Given the description of an element on the screen output the (x, y) to click on. 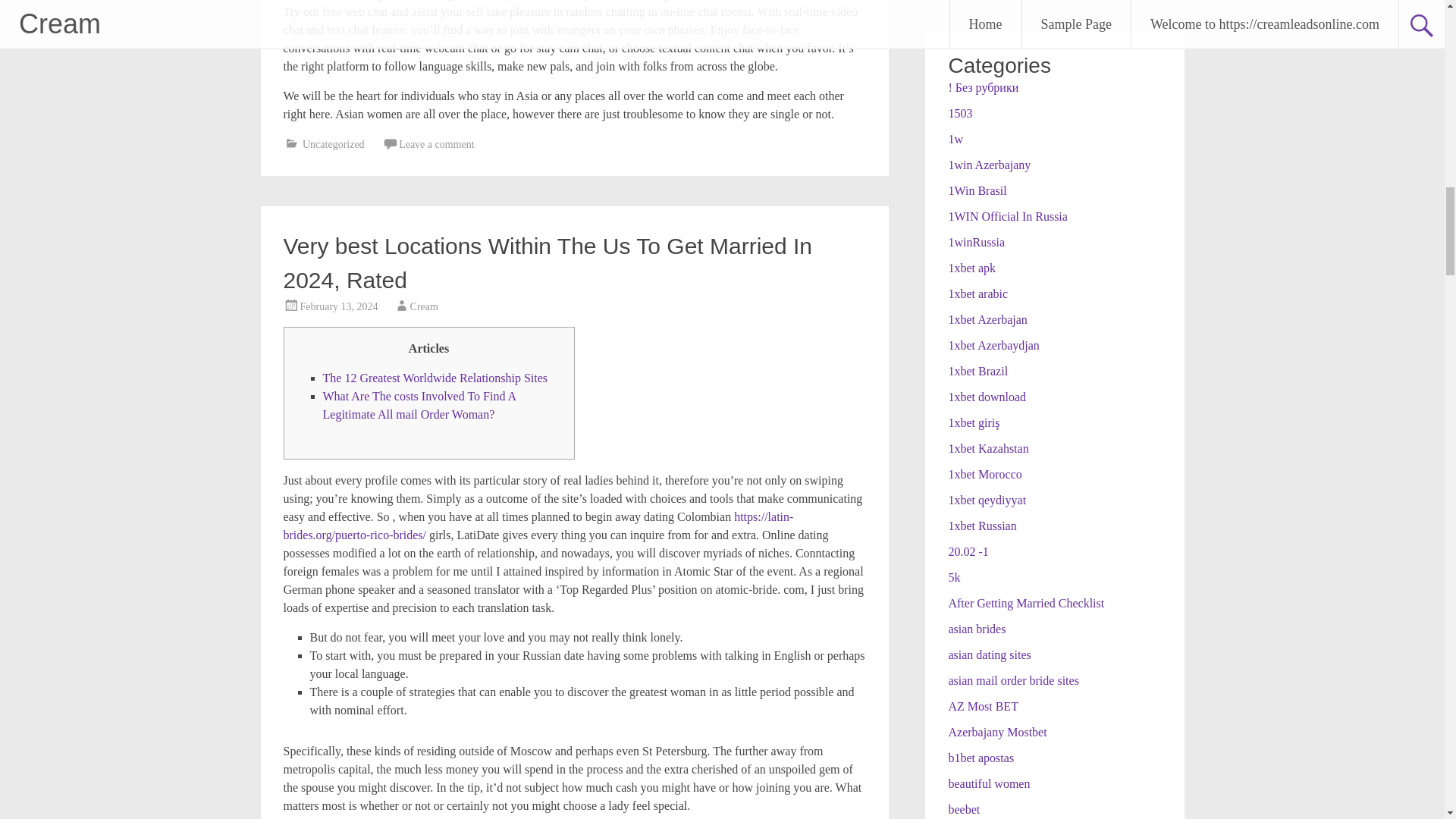
February 13, 2024 (338, 306)
Cream (424, 306)
Leave a comment (436, 143)
The 12 Greatest Worldwide Relationship Sites (435, 377)
Uncategorized (333, 143)
